Given the description of an element on the screen output the (x, y) to click on. 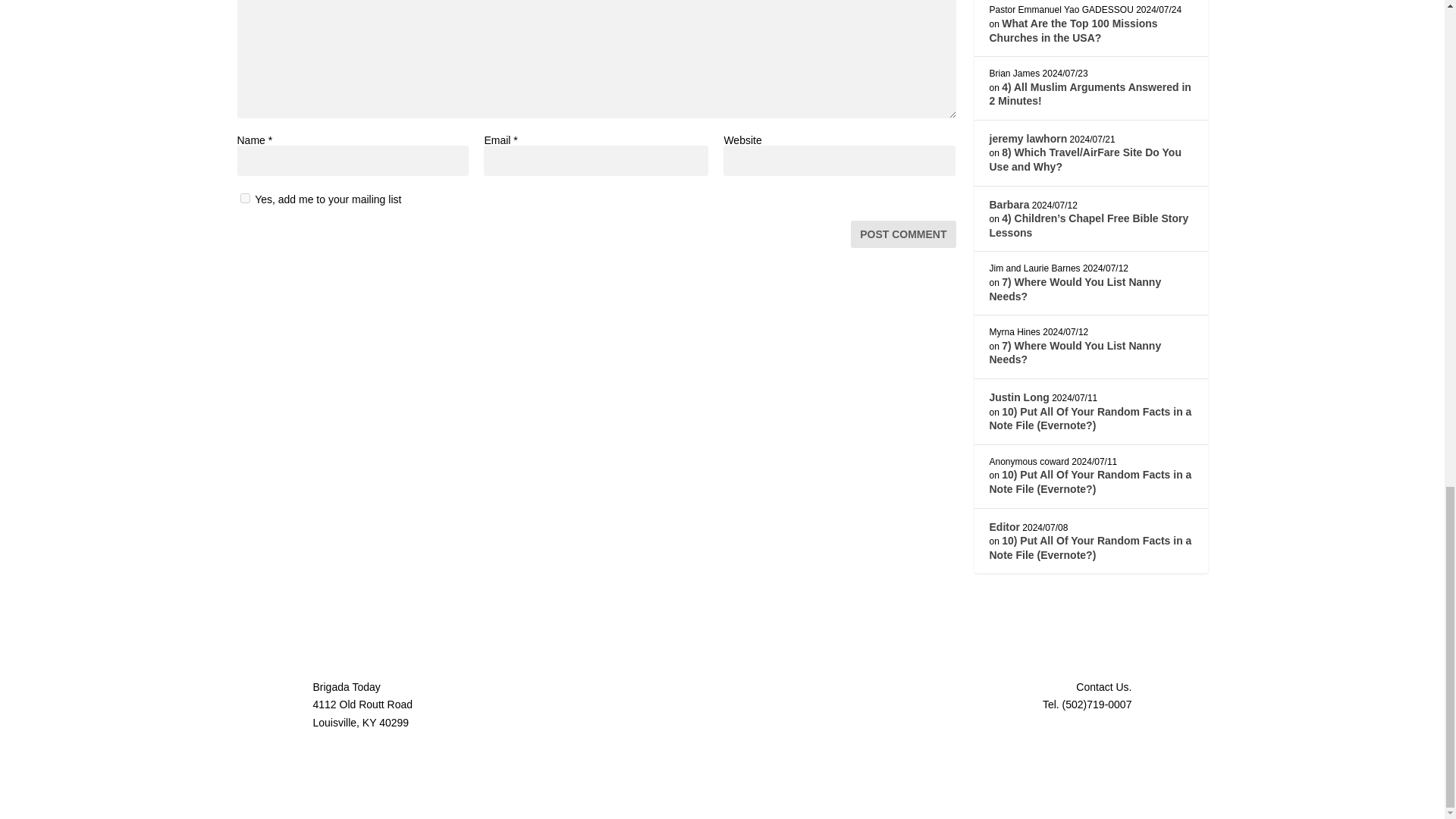
Post Comment (902, 234)
Post Comment (902, 234)
1 (244, 198)
